Given the description of an element on the screen output the (x, y) to click on. 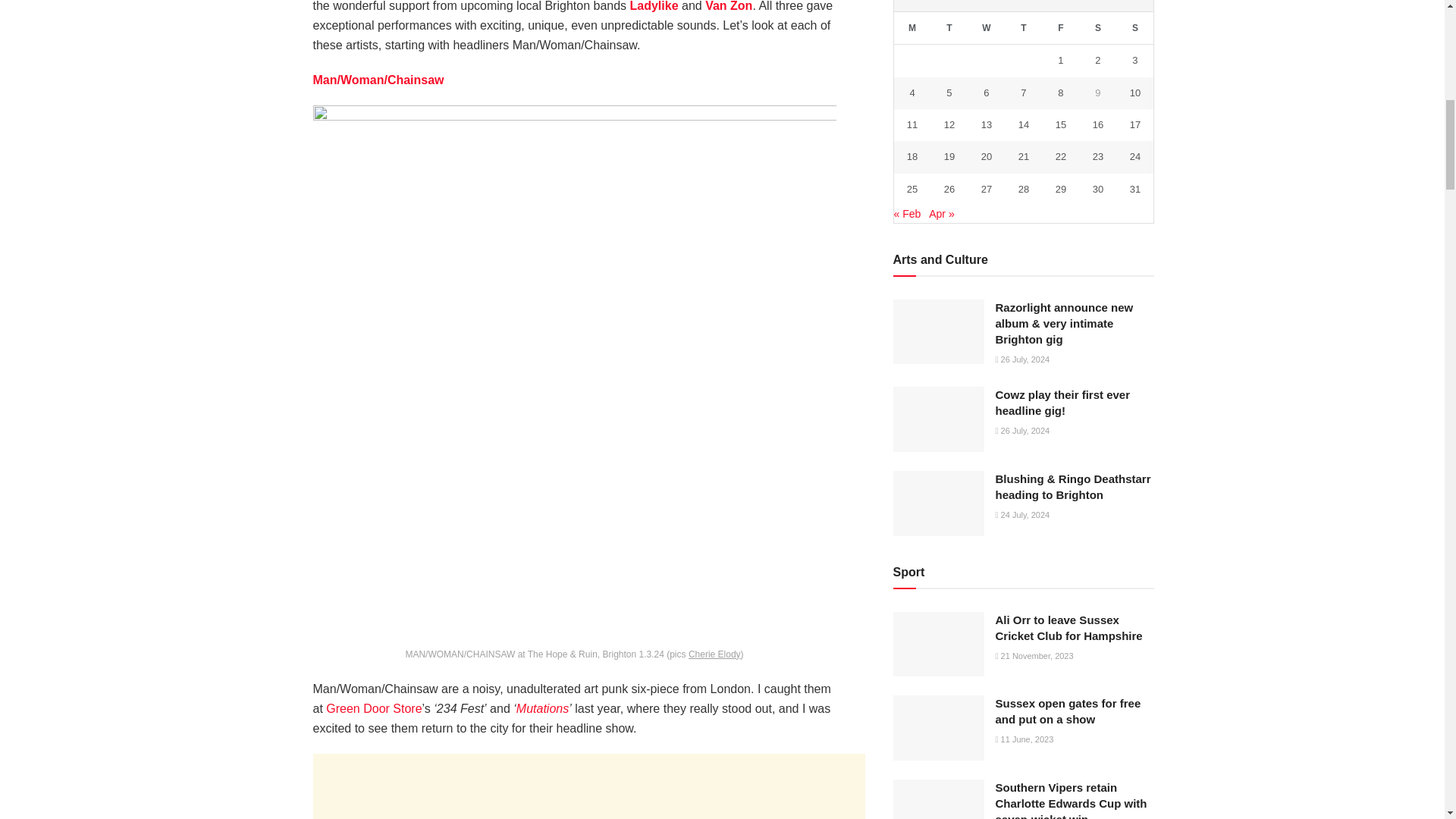
Saturday (1097, 28)
Sunday (1134, 28)
Friday (1060, 28)
Thursday (1023, 28)
Tuesday (949, 28)
Wednesday (986, 28)
Monday (911, 28)
